Given the description of an element on the screen output the (x, y) to click on. 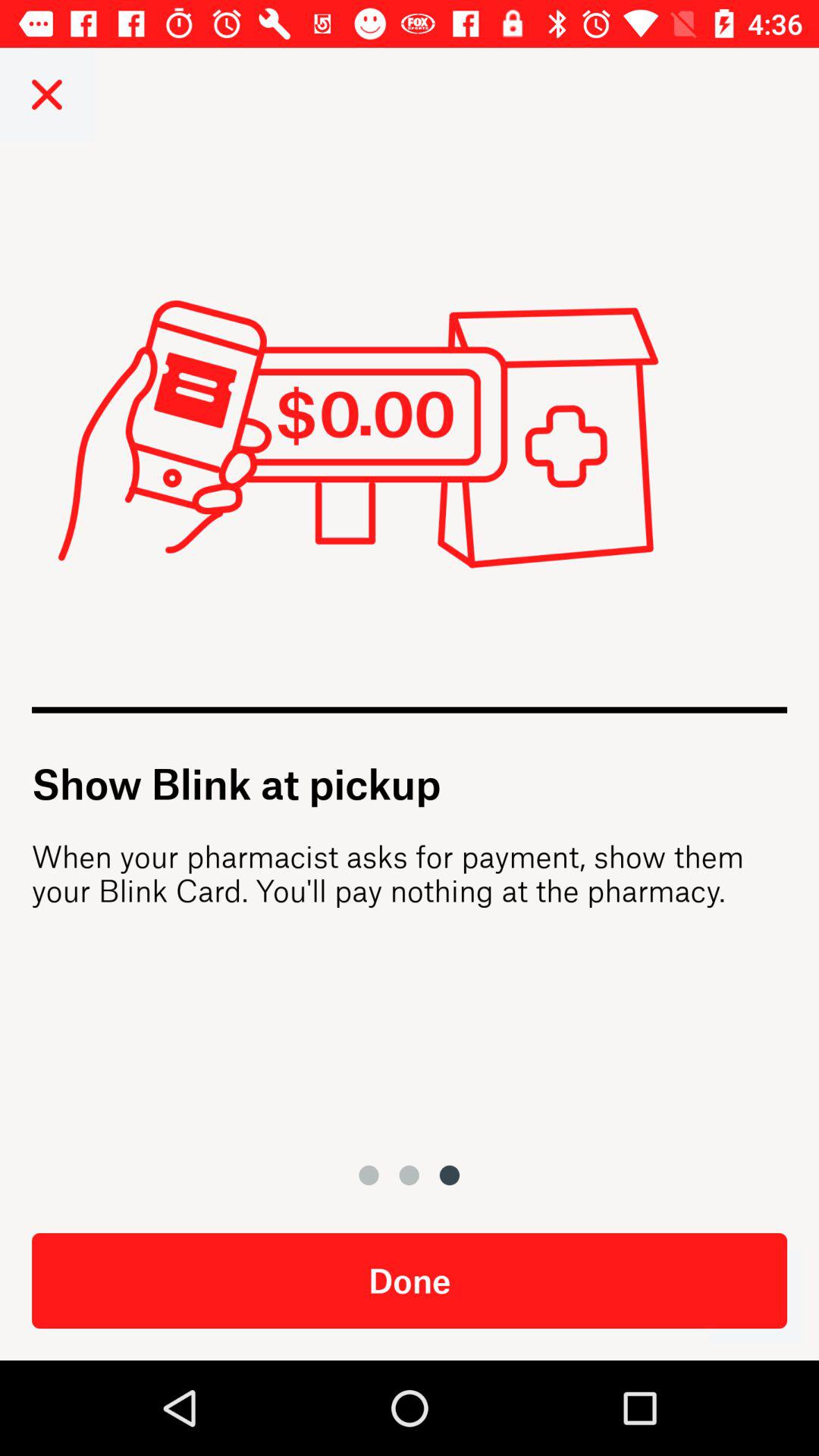
select when done (755, 1296)
